Given the description of an element on the screen output the (x, y) to click on. 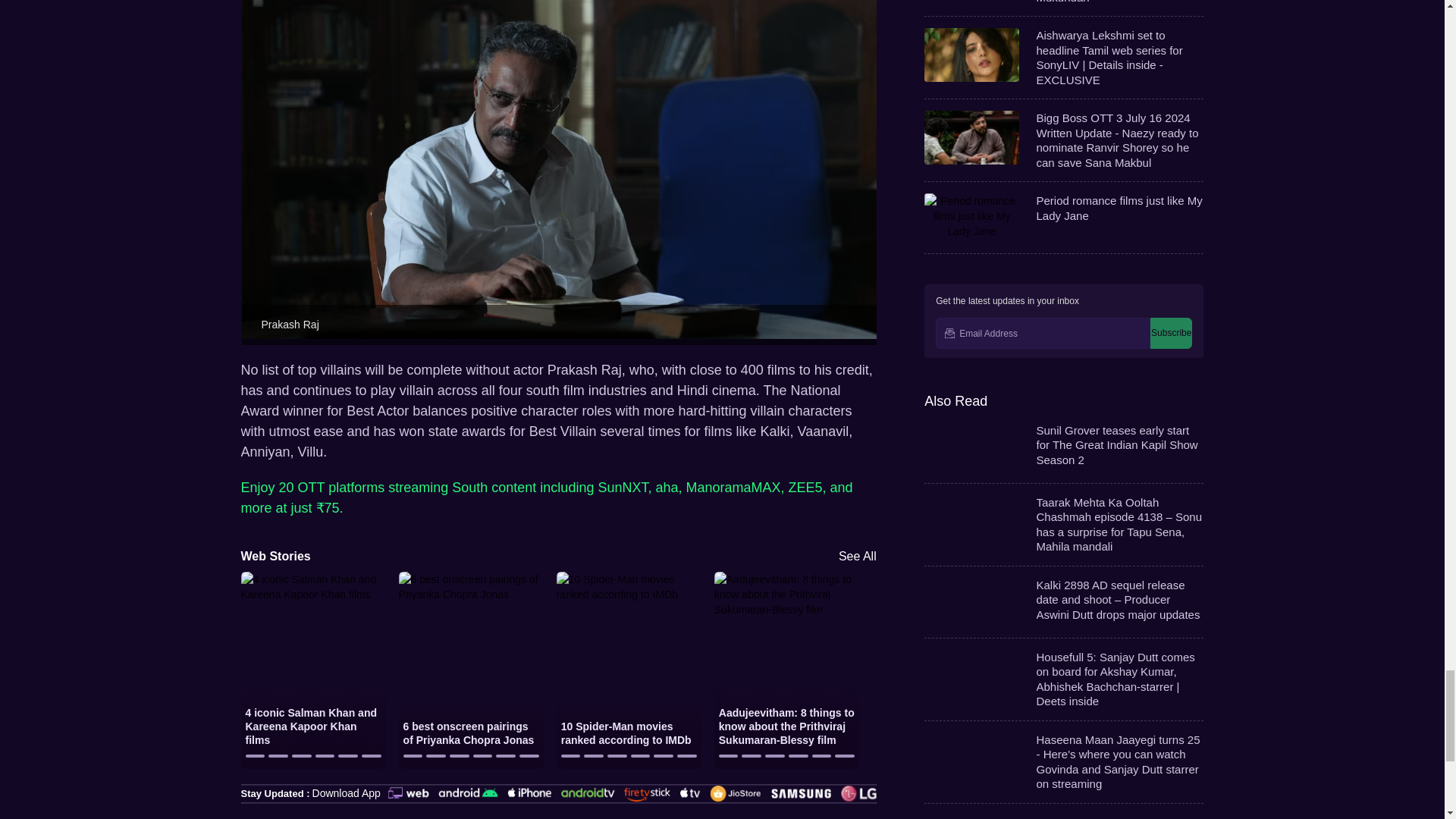
10 Spider-Man movies ranked according to IMDb (628, 594)
4 iconic Salman Khan and Kareena Kapoor Khan films (313, 594)
6 best onscreen pairings of Priyanka Chopra Jonas (470, 594)
